Given the description of an element on the screen output the (x, y) to click on. 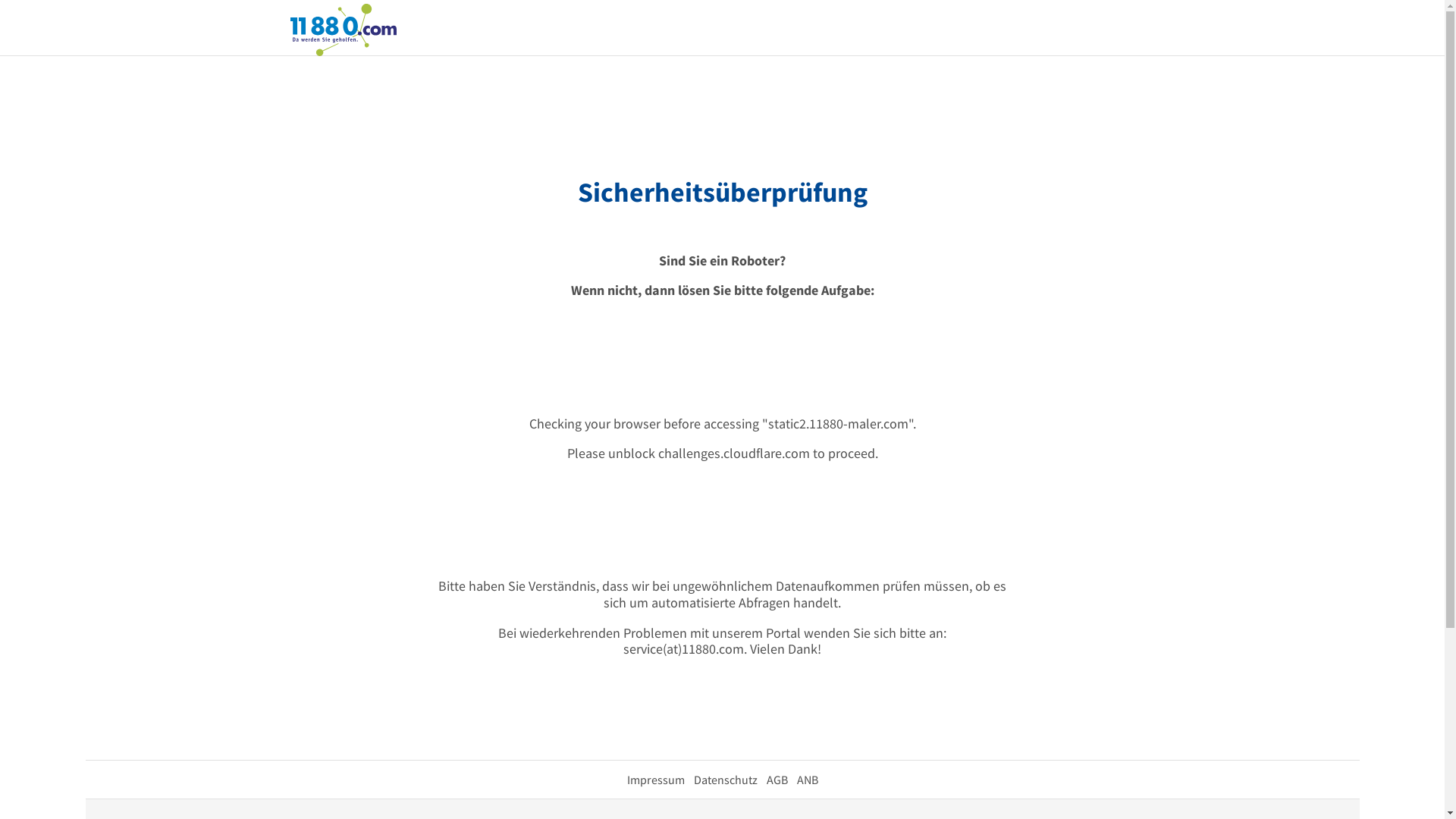
Datenschutz Element type: text (724, 779)
AGB Element type: text (776, 779)
Impressum Element type: text (655, 779)
ANB Element type: text (806, 779)
11880.com Element type: hover (342, 28)
